Given the description of an element on the screen output the (x, y) to click on. 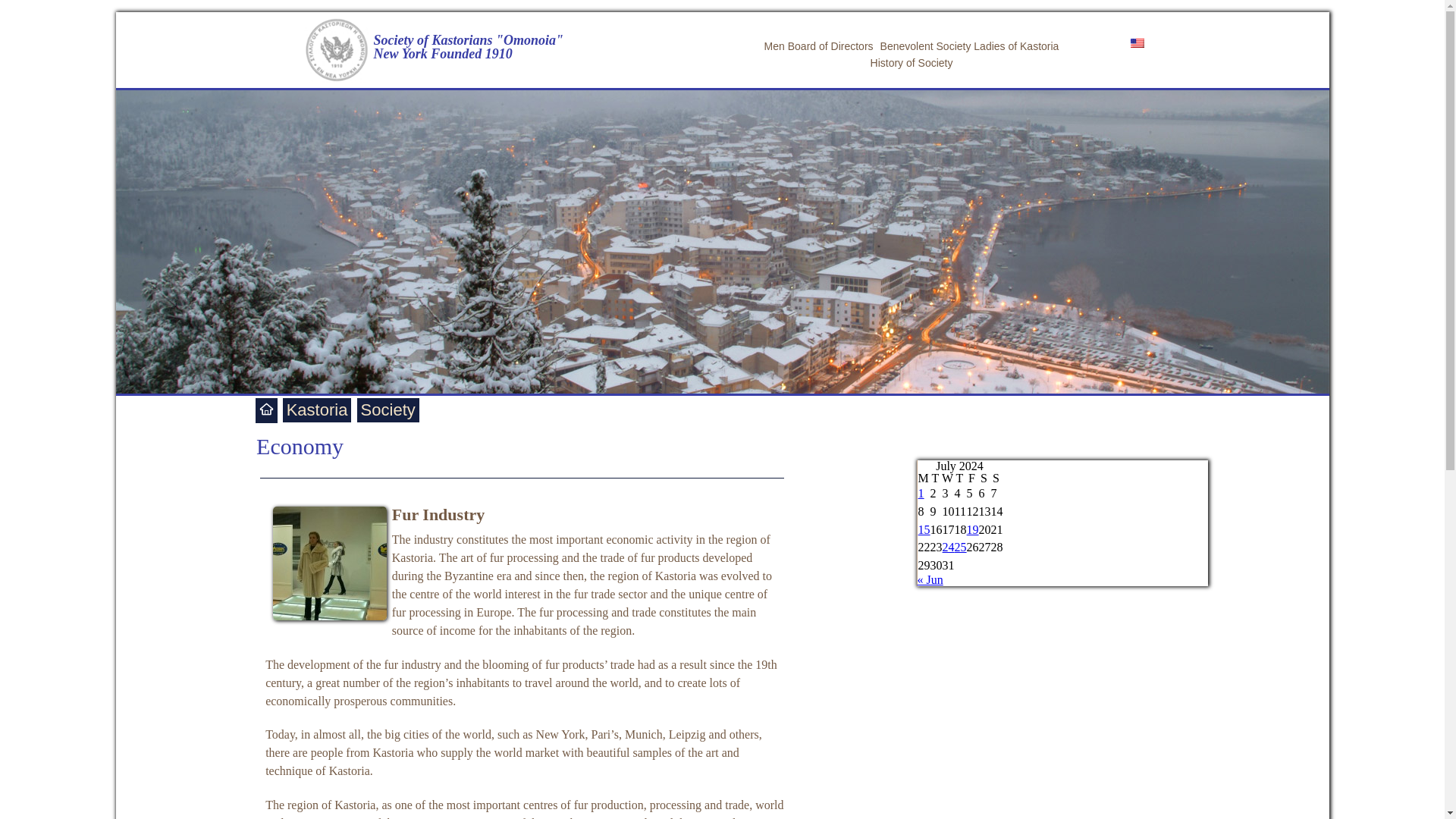
Thursday (959, 478)
Benevolent Society Ladies of Kastoria (969, 46)
Society (387, 409)
19 (972, 529)
Kastoria (316, 409)
Tuesday (936, 478)
Wednesday (947, 478)
25 (960, 546)
Men Board of Directors (818, 46)
Monday (923, 478)
Friday (972, 478)
History of Society (911, 62)
Saturday (984, 478)
15 (924, 529)
Sunday (996, 478)
